Given the description of an element on the screen output the (x, y) to click on. 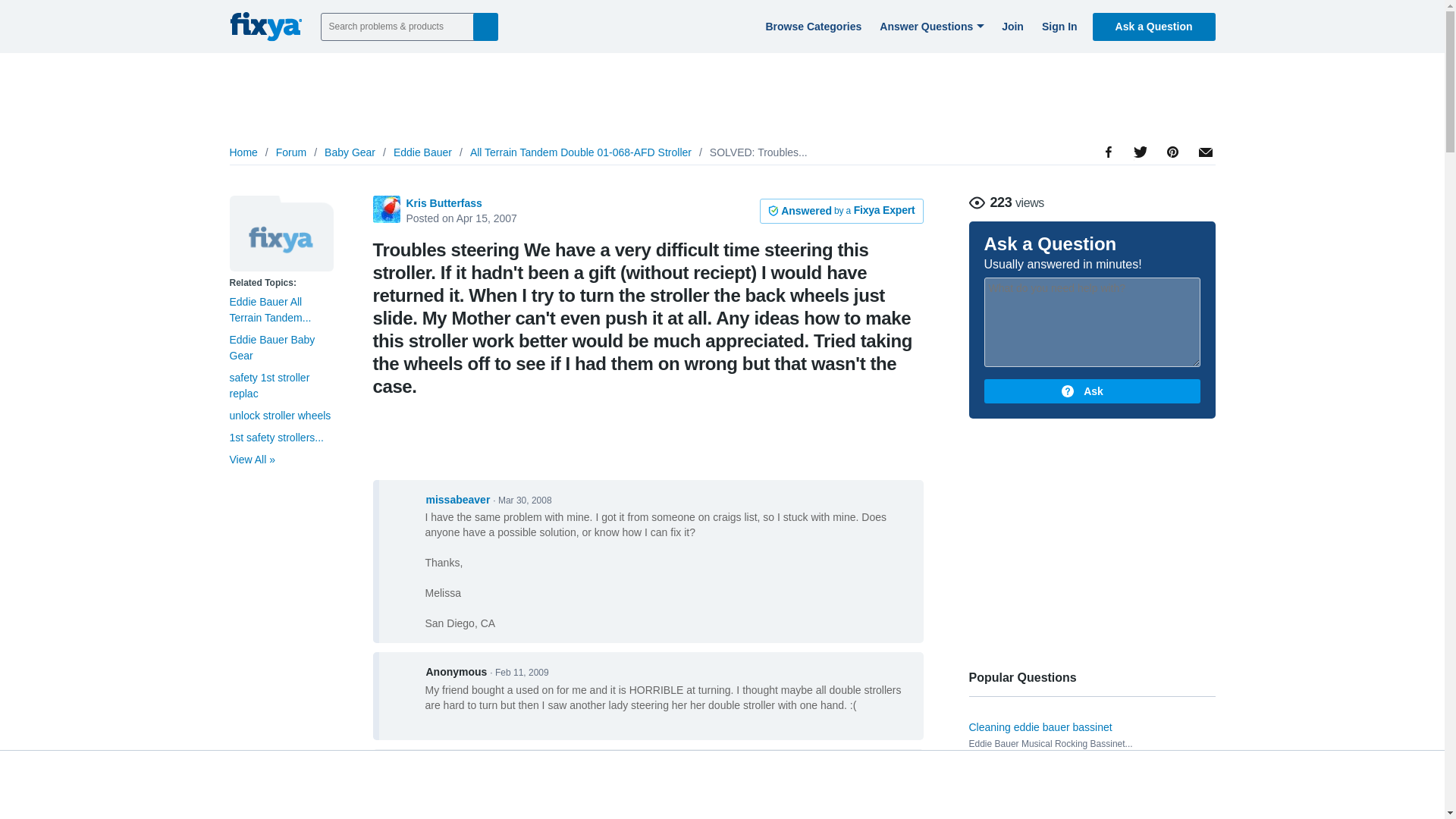
Ask (1091, 391)
Baby Gear (349, 152)
Eddie Bauer All Terrain Tandem Double 01-068-AFD Stroller (280, 233)
Ask a Question (1154, 26)
All Terrain Tandem Double 01-068-AFD Stroller (580, 152)
safety 1st stroller replac (268, 385)
Sign In (1056, 26)
Eddie Bauer All Terrain Tandem... (269, 309)
Eddie Bauer Baby Gear (271, 347)
Home (242, 152)
Search Fixya (485, 26)
Answer Questions (929, 26)
unlock stroller wheels (279, 415)
Search Fixya (485, 26)
Search Fixya (485, 26)
